Given the description of an element on the screen output the (x, y) to click on. 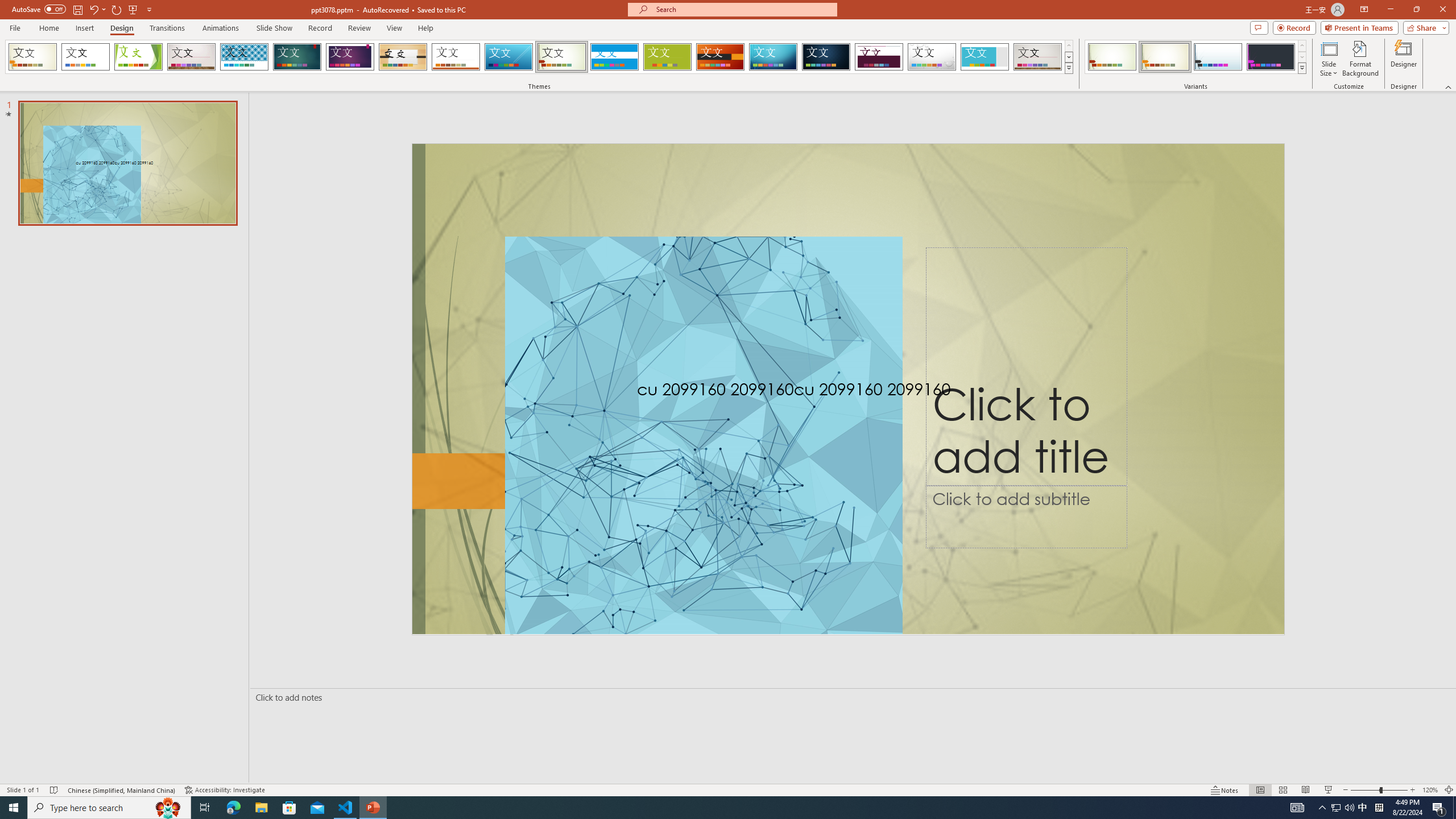
Ion Loading Preview... (296, 56)
Office Theme (85, 56)
Wisp Variant 3 (1217, 56)
Wisp Variant 2 (1164, 56)
Wisp Loading Preview... (561, 56)
Banded Loading Preview... (614, 56)
Slide Size (1328, 58)
